Given the description of an element on the screen output the (x, y) to click on. 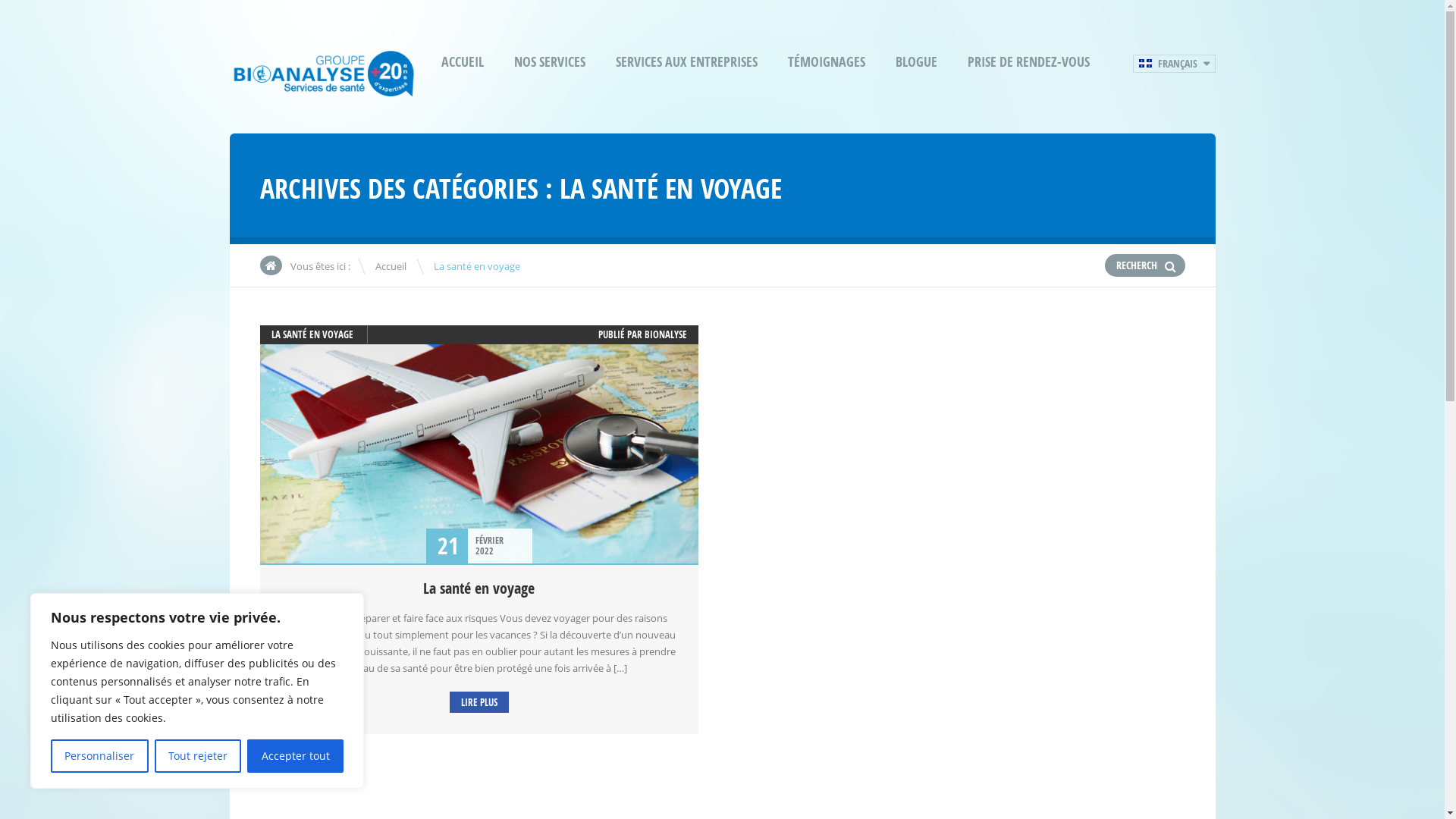
ACCUEIL Element type: text (462, 61)
BLOGUE Element type: text (915, 61)
Accueil Element type: text (390, 266)
Bioanalyse Element type: hover (322, 92)
Personnaliser Element type: text (99, 755)
SERVICES AUX ENTREPRISES Element type: text (686, 61)
NOS SERVICES Element type: text (549, 61)
Rechercher : Element type: hover (1136, 265)
Rechercher Element type: text (1170, 266)
Tout rejeter Element type: text (197, 755)
LIRE PLUS Element type: text (478, 701)
BIONALYSE Element type: text (665, 334)
Accepter tout Element type: text (295, 755)
PRISE DE RENDEZ-VOUS Element type: text (1028, 61)
